Given the description of an element on the screen output the (x, y) to click on. 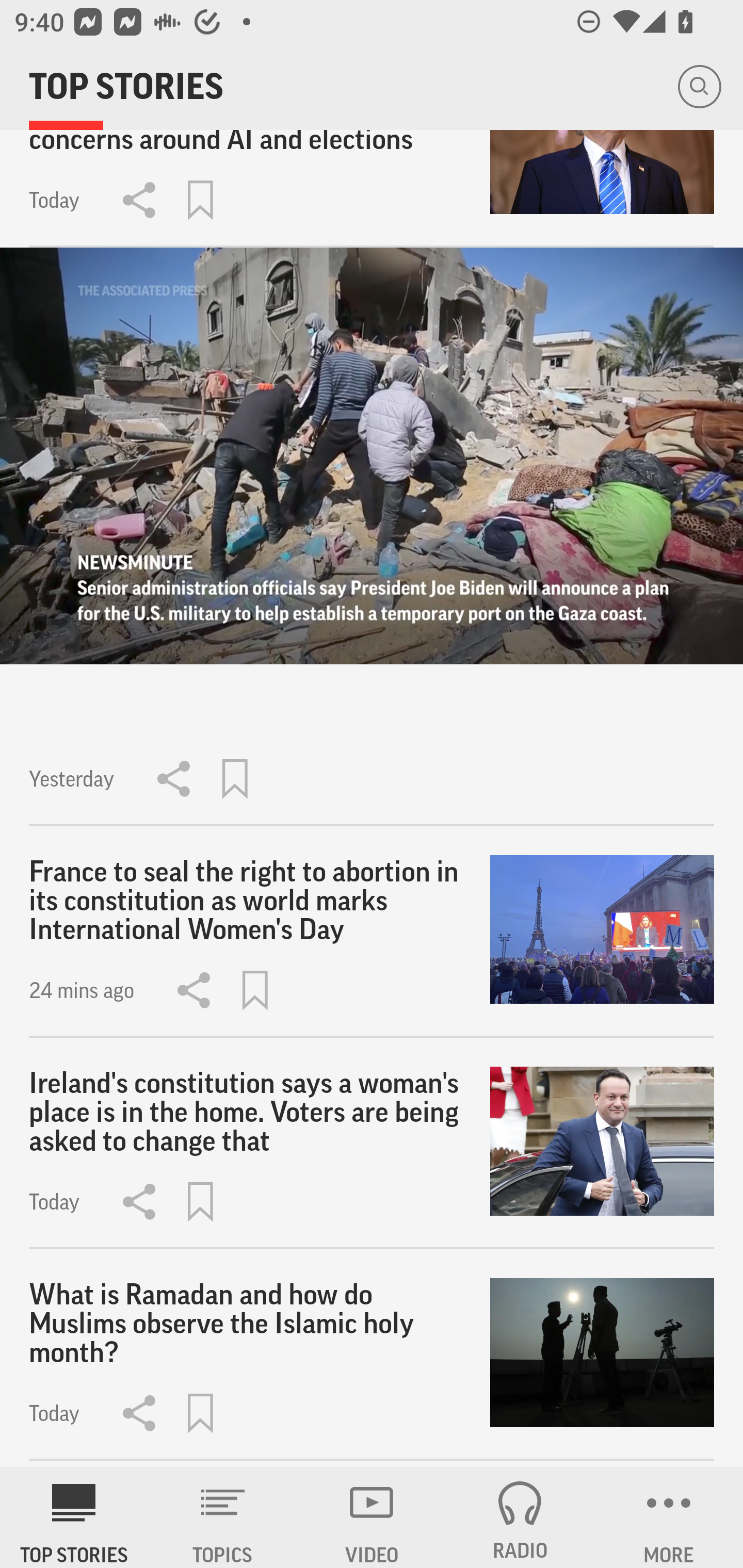
toggle controls Yesterday (371, 536)
toggle controls (371, 455)
AP News TOP STORIES (74, 1517)
TOPICS (222, 1517)
VIDEO (371, 1517)
RADIO (519, 1517)
MORE (668, 1517)
